Given the description of an element on the screen output the (x, y) to click on. 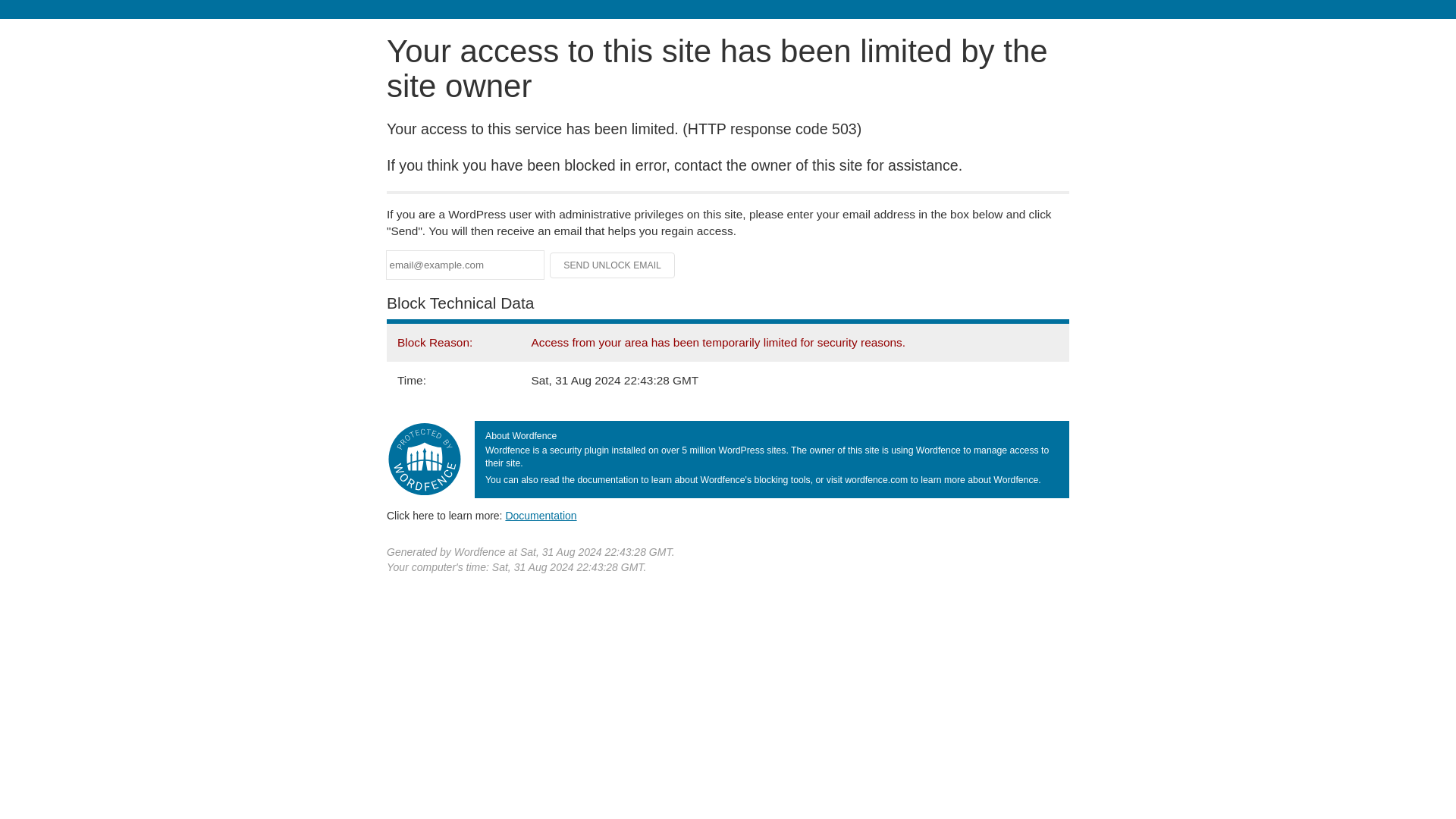
Send Unlock Email (612, 265)
Documentation (540, 515)
Send Unlock Email (612, 265)
